Given the description of an element on the screen output the (x, y) to click on. 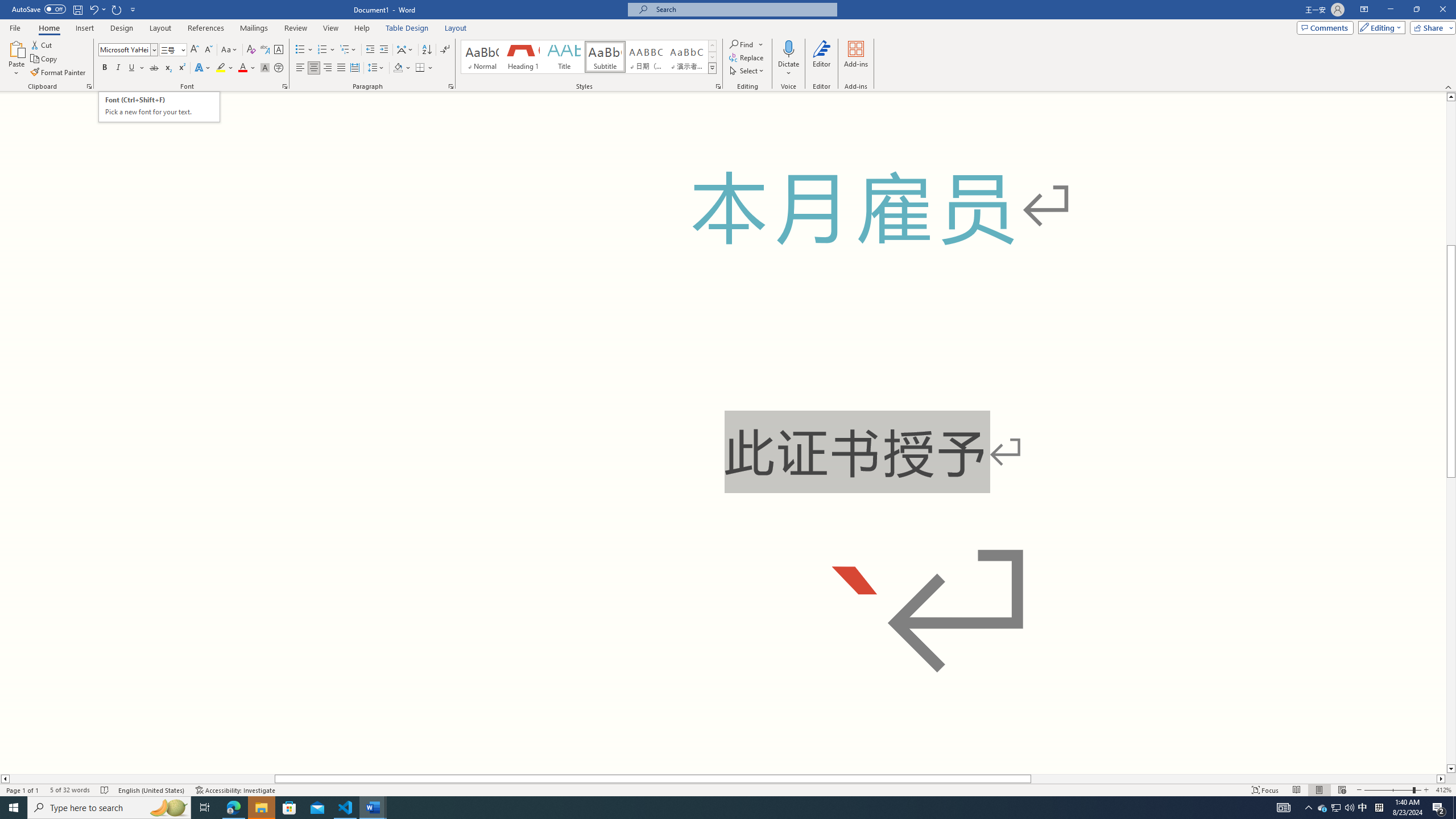
Editing (1379, 27)
Select (747, 69)
Line down (1450, 768)
Page down (1450, 620)
